Given the description of an element on the screen output the (x, y) to click on. 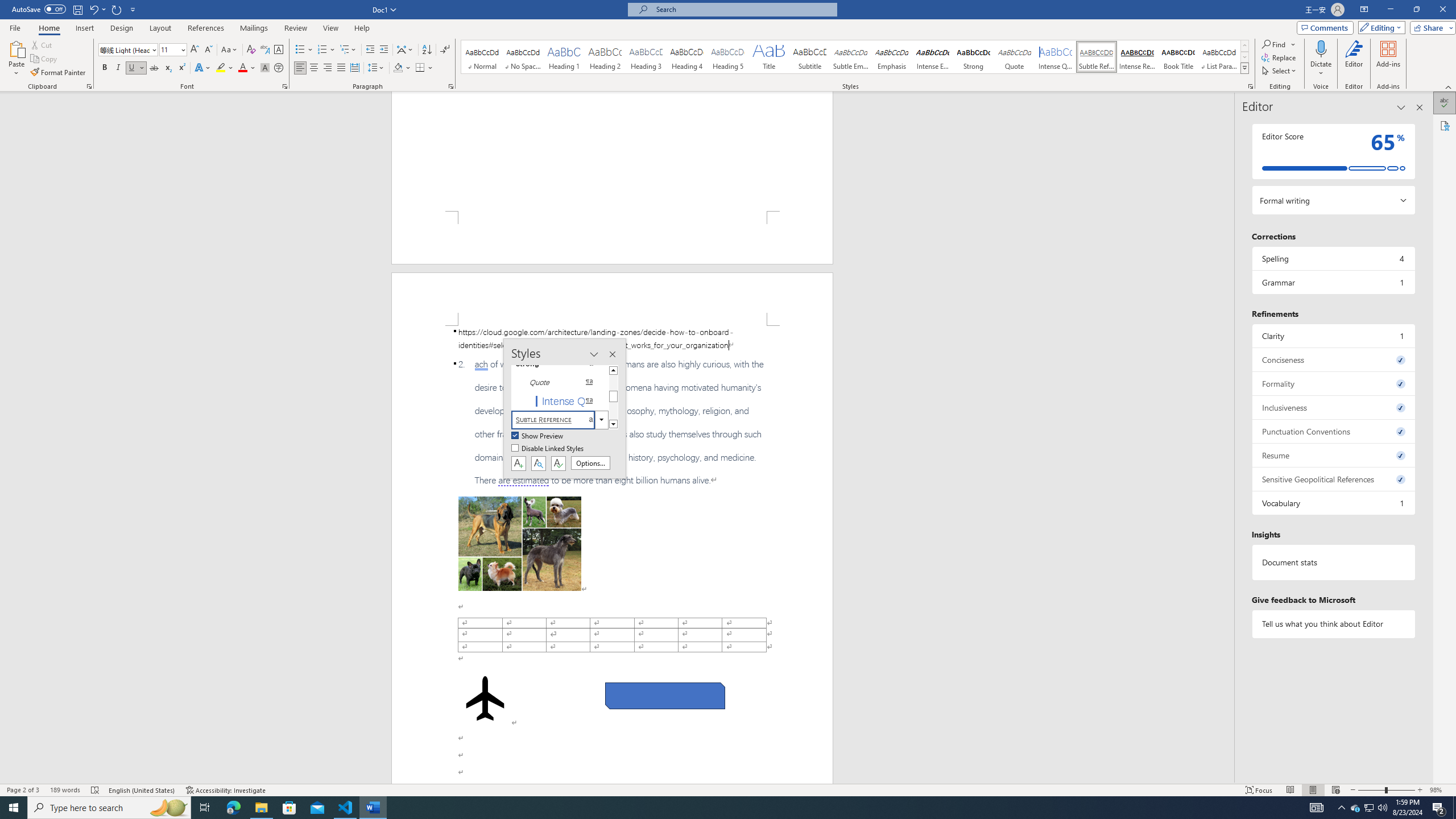
Accessibility (1444, 125)
Align Right (327, 67)
Formality, 0 issues. Press space or enter to review items. (1333, 383)
Spelling and Grammar Check Errors (94, 790)
Class: MsoCommandBar (728, 789)
Justify (340, 67)
Emphasis (891, 56)
Airplane with solid fill (485, 697)
Shading RGB(0, 0, 0) (397, 67)
